Given the description of an element on the screen output the (x, y) to click on. 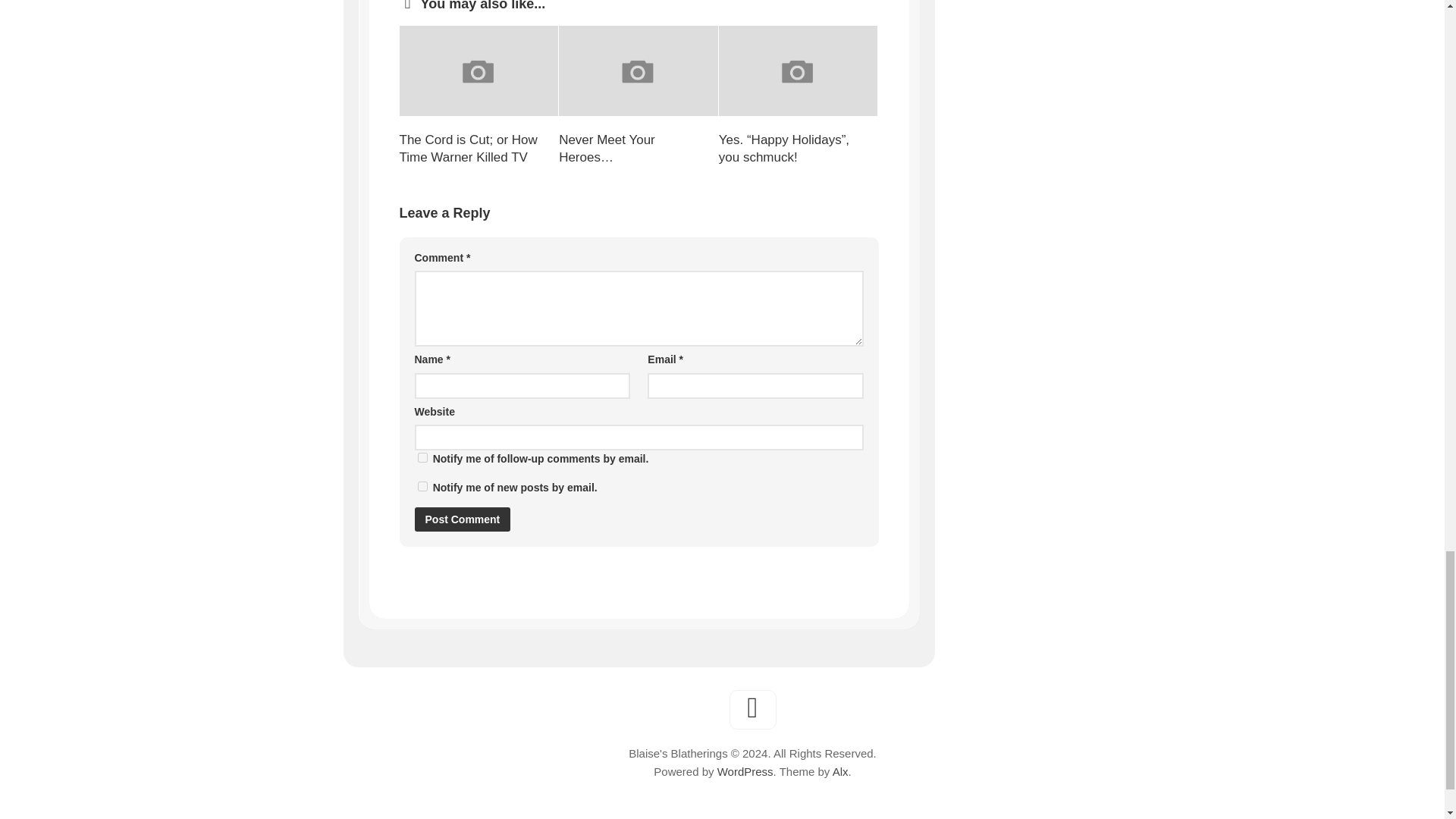
The Cord is Cut; or How Time Warner Killed TV (467, 148)
subscribe (421, 457)
subscribe (421, 486)
Post Comment (462, 518)
Post Comment (462, 518)
